Given the description of an element on the screen output the (x, y) to click on. 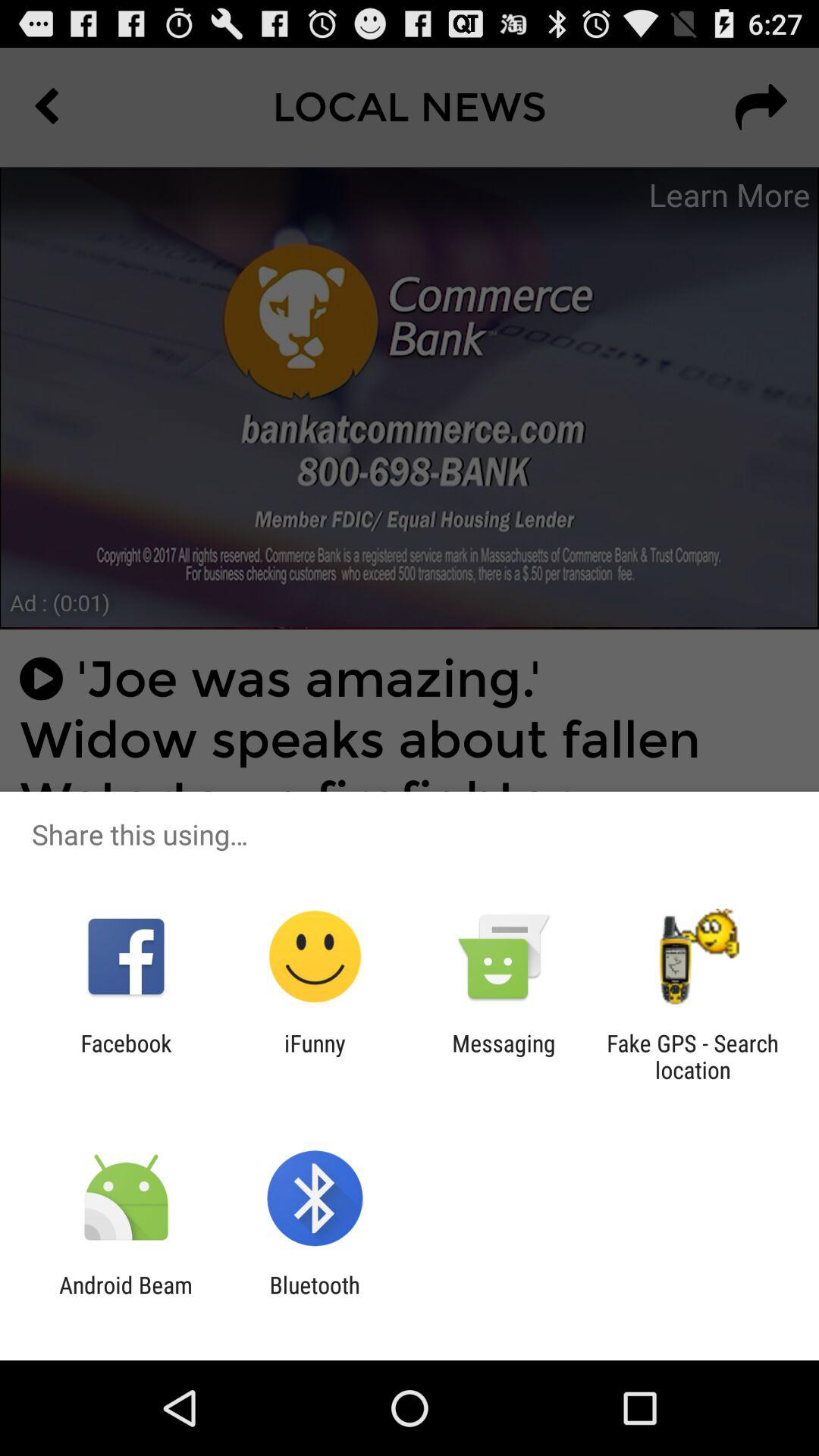
click android beam app (125, 1298)
